Given the description of an element on the screen output the (x, y) to click on. 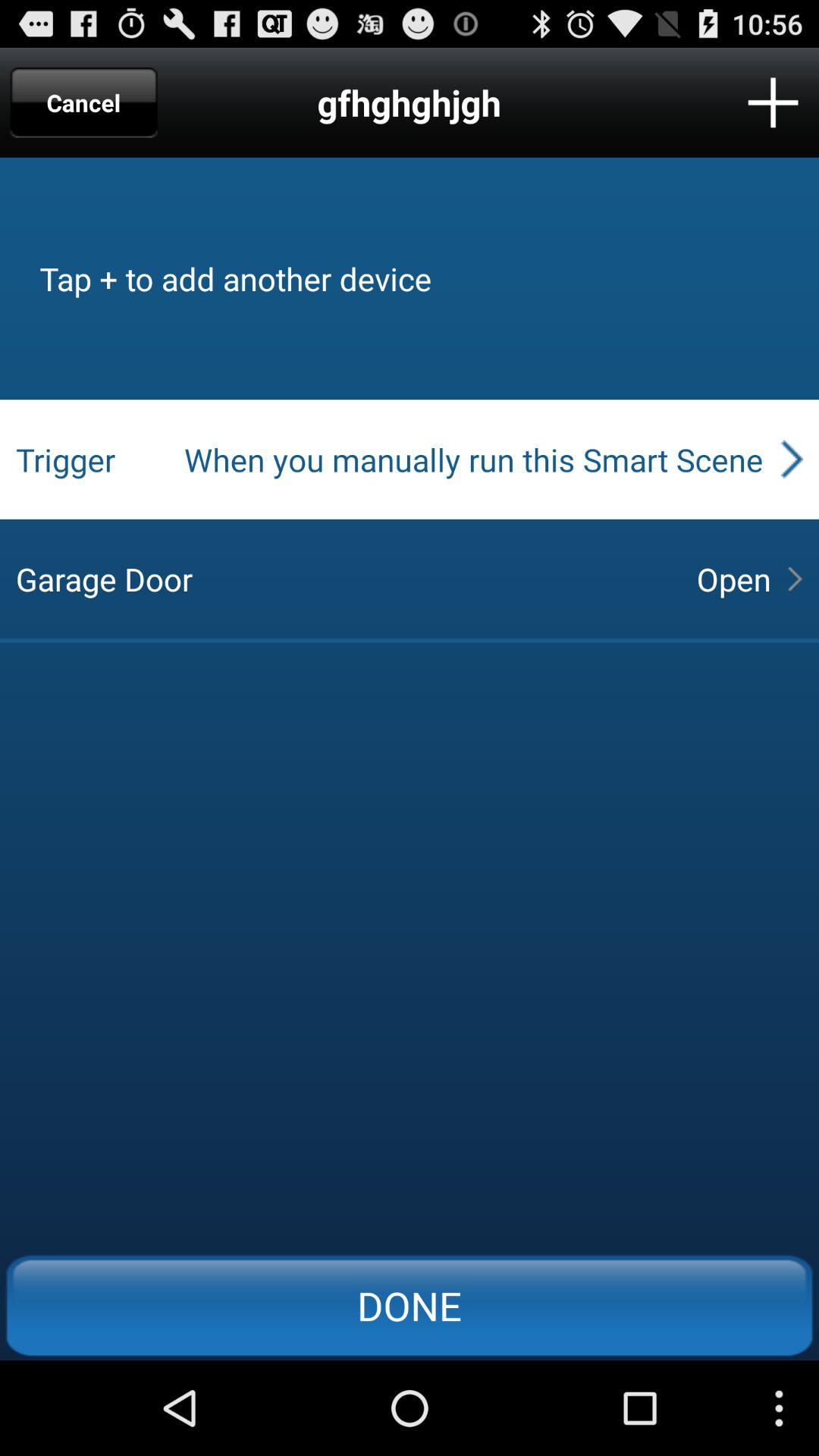
select item below garage door item (409, 1305)
